Given the description of an element on the screen output the (x, y) to click on. 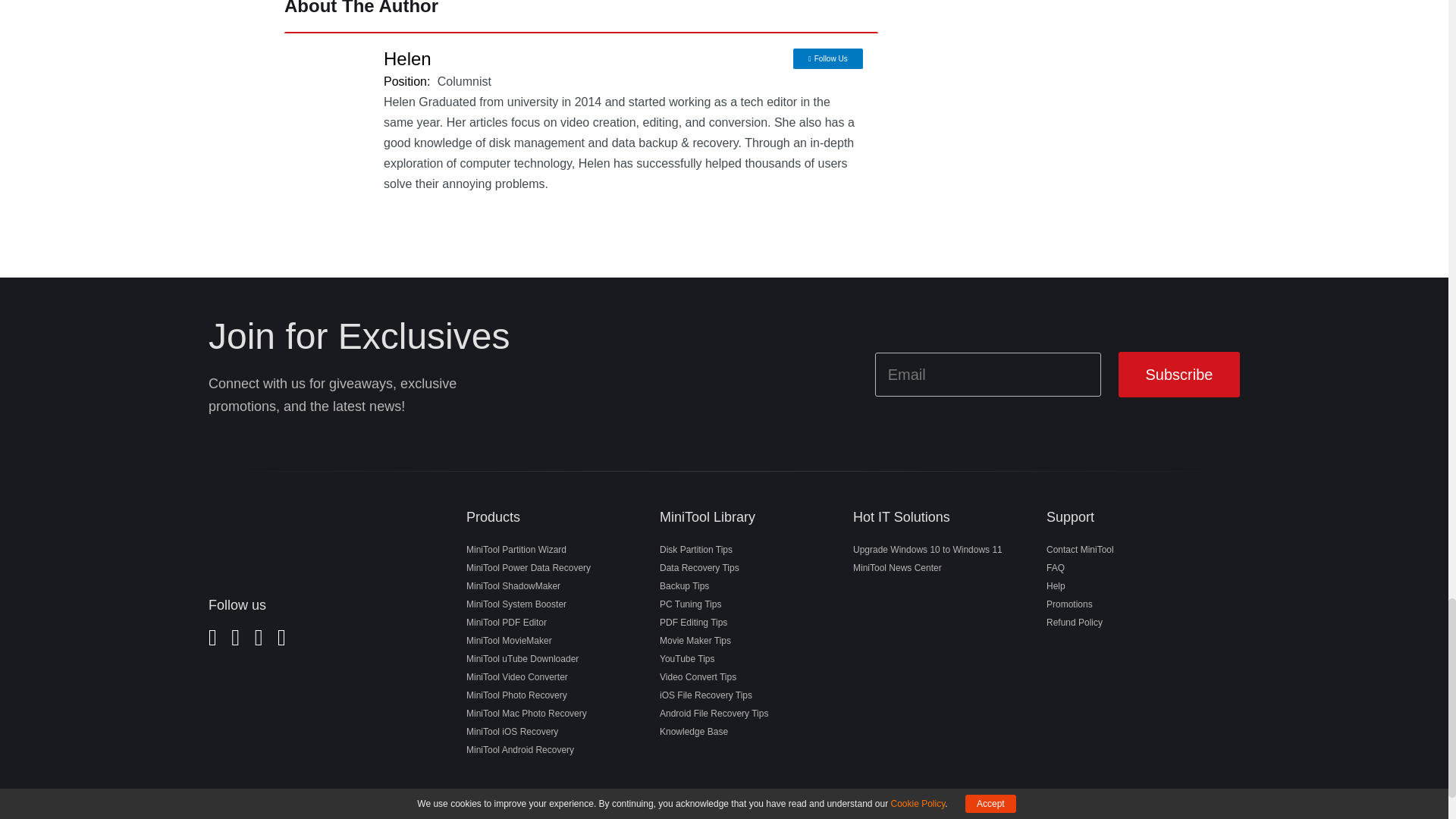
Subscribe (1179, 374)
Customer reviews powered by Trustpilot (299, 720)
